Given the description of an element on the screen output the (x, y) to click on. 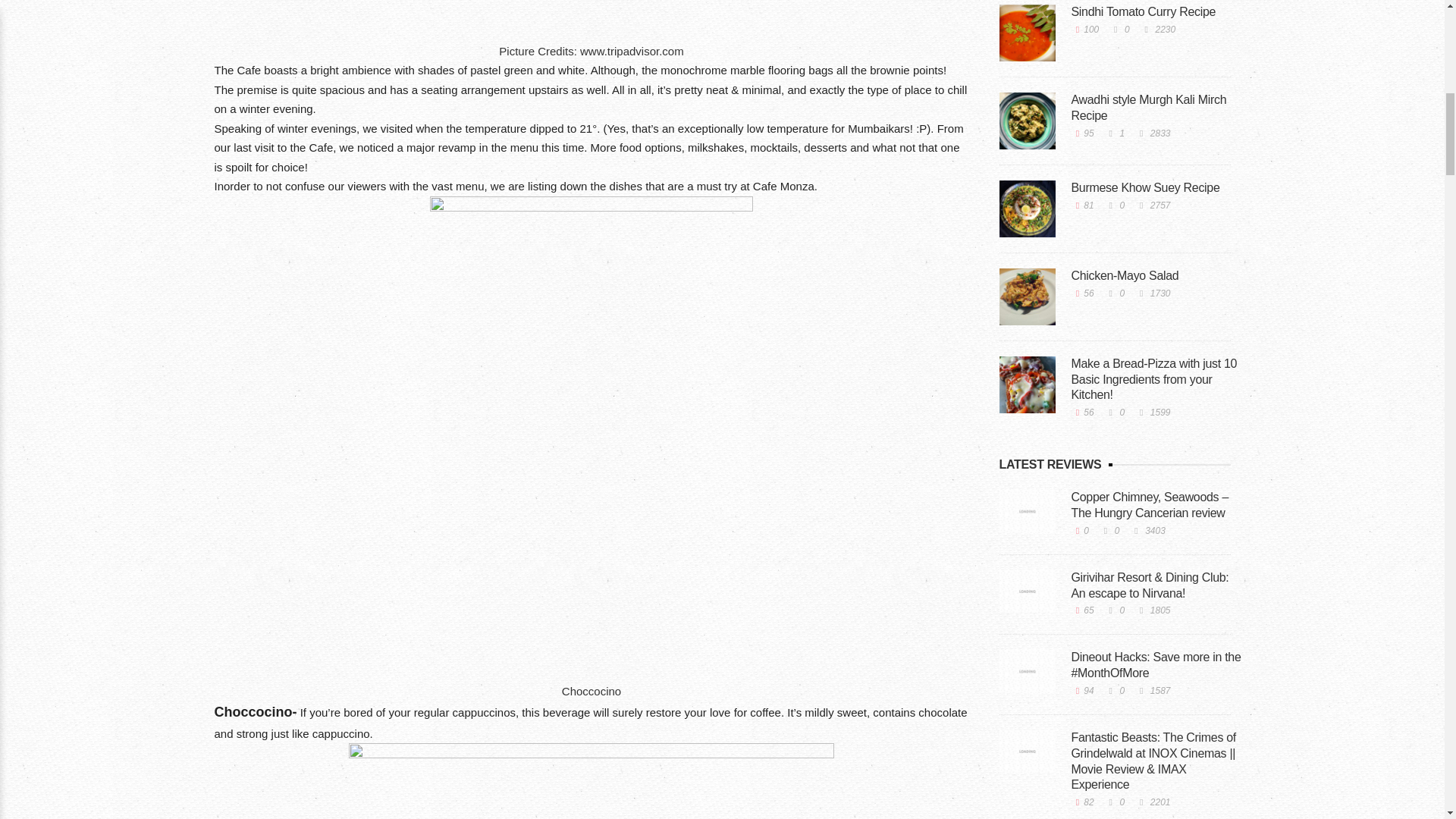
Like this (1081, 132)
Like this (1081, 204)
Like this (1081, 293)
Like this (1084, 29)
